Given the description of an element on the screen output the (x, y) to click on. 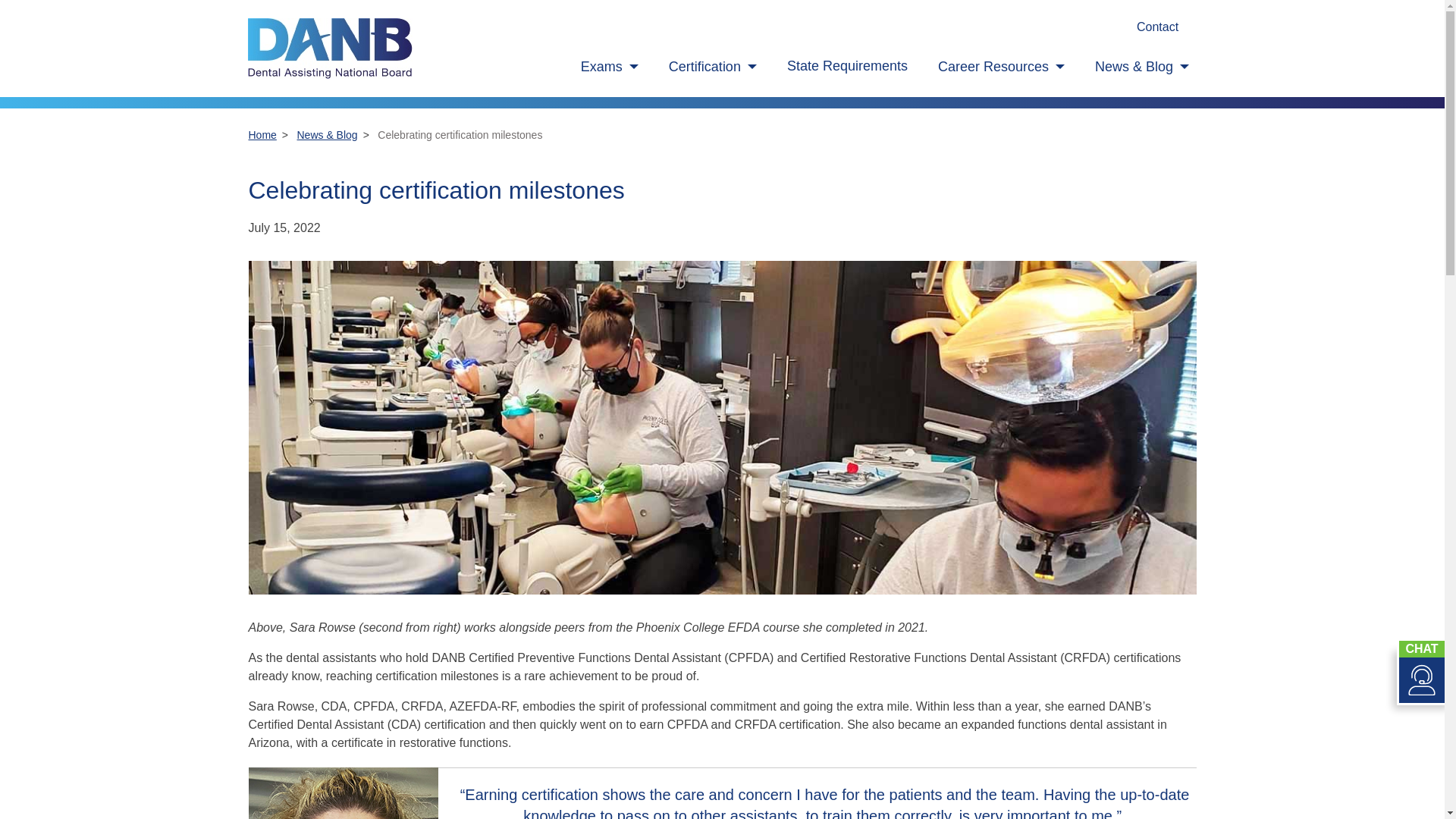
Certification (712, 66)
Exams (609, 66)
Contact (1157, 26)
State Requirements (847, 66)
Career Resources (1000, 66)
